Given the description of an element on the screen output the (x, y) to click on. 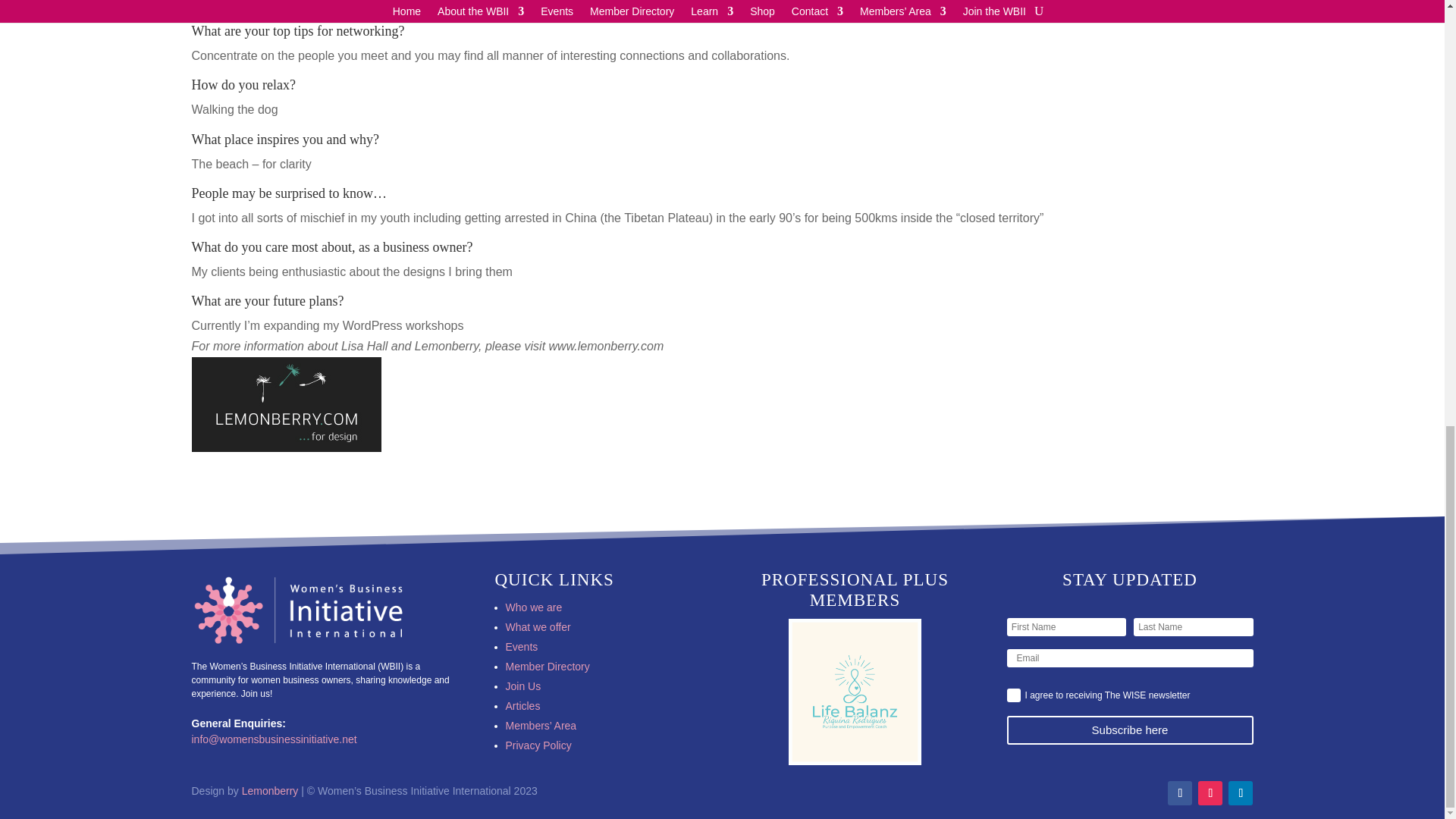
Follow on Instagram (1210, 793)
Life Balanz (855, 691)
Events (521, 646)
Join Us (522, 686)
Member Directory (547, 666)
Who we are (533, 607)
Follow on Facebook (1179, 793)
Follow on LinkedIn (1240, 793)
Articles (522, 705)
What we offer (537, 626)
